Given the description of an element on the screen output the (x, y) to click on. 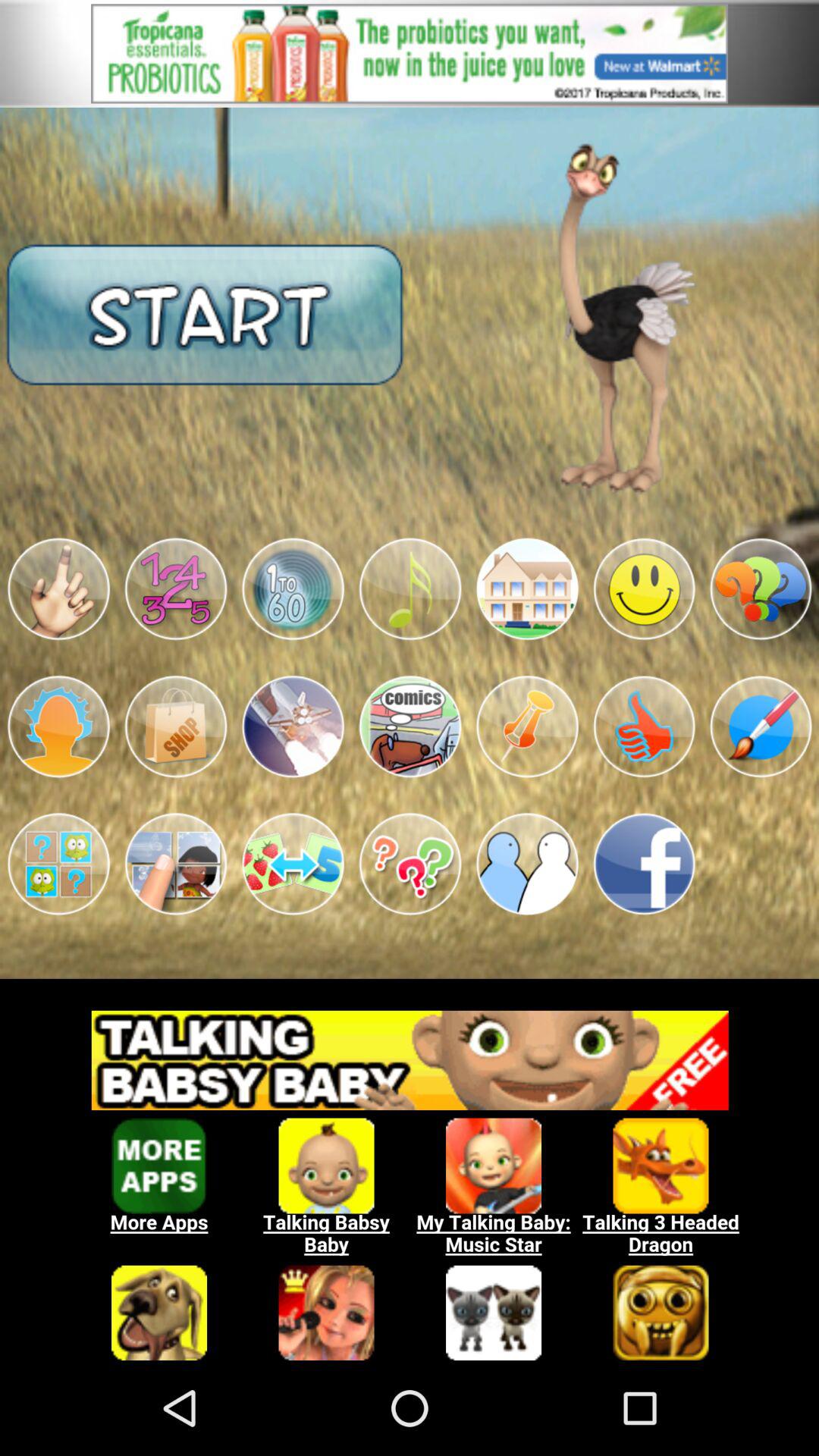
stick images (292, 589)
